Given the description of an element on the screen output the (x, y) to click on. 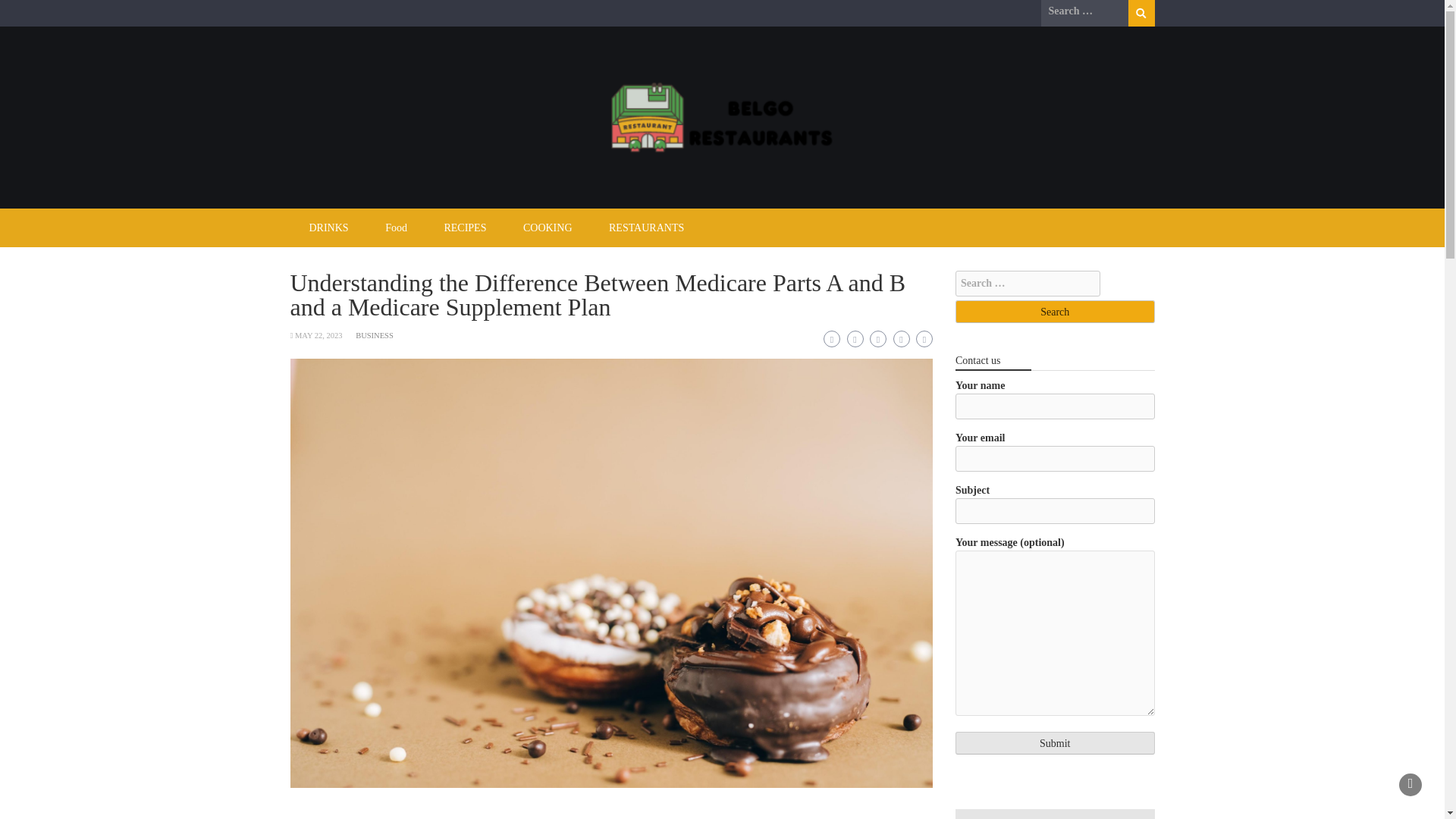
Search (1054, 311)
MAY 22, 2023 (318, 335)
Submit (1054, 743)
Food (395, 227)
Search (1054, 311)
Search (1141, 13)
RECIPES (464, 227)
Submit (1054, 743)
Search for: (1027, 283)
BUSINESS (374, 335)
